Given the description of an element on the screen output the (x, y) to click on. 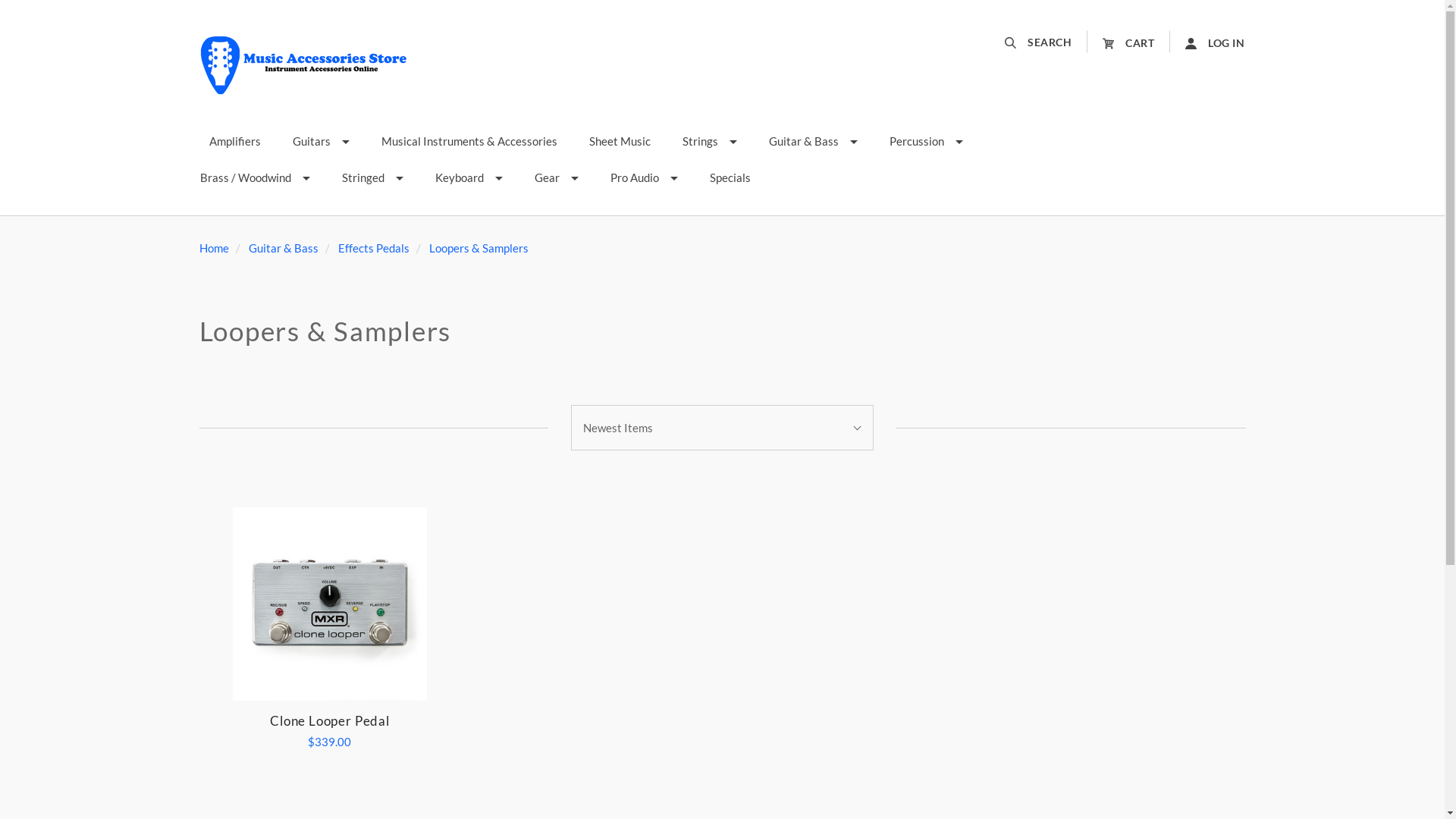
Loopers & Samplers Element type: text (478, 247)
Guitars Element type: text (320, 141)
Percussion Element type: text (926, 141)
CART Element type: text (1128, 42)
Strings Element type: text (708, 141)
SEARCH Element type: text (1045, 41)
Amplifiers Element type: text (234, 141)
Guitar & Bass Element type: text (812, 141)
LOG IN Element type: text (1207, 42)
Musical Instruments & Accessories Element type: text (469, 141)
Brass / Woodwind Element type: text (254, 177)
Clone Looper Pedal Element type: text (329, 720)
Sheet Music Element type: text (619, 141)
Clone Looper Pedal Element type: hover (329, 604)
Stringed Element type: text (372, 177)
Keyboard Element type: text (468, 177)
Gear Element type: text (556, 177)
Specials Element type: text (729, 177)
Home Element type: text (213, 247)
Guitar & Bass Element type: text (283, 247)
Pro Audio Element type: text (644, 177)
Effects Pedals Element type: text (373, 247)
